Given the description of an element on the screen output the (x, y) to click on. 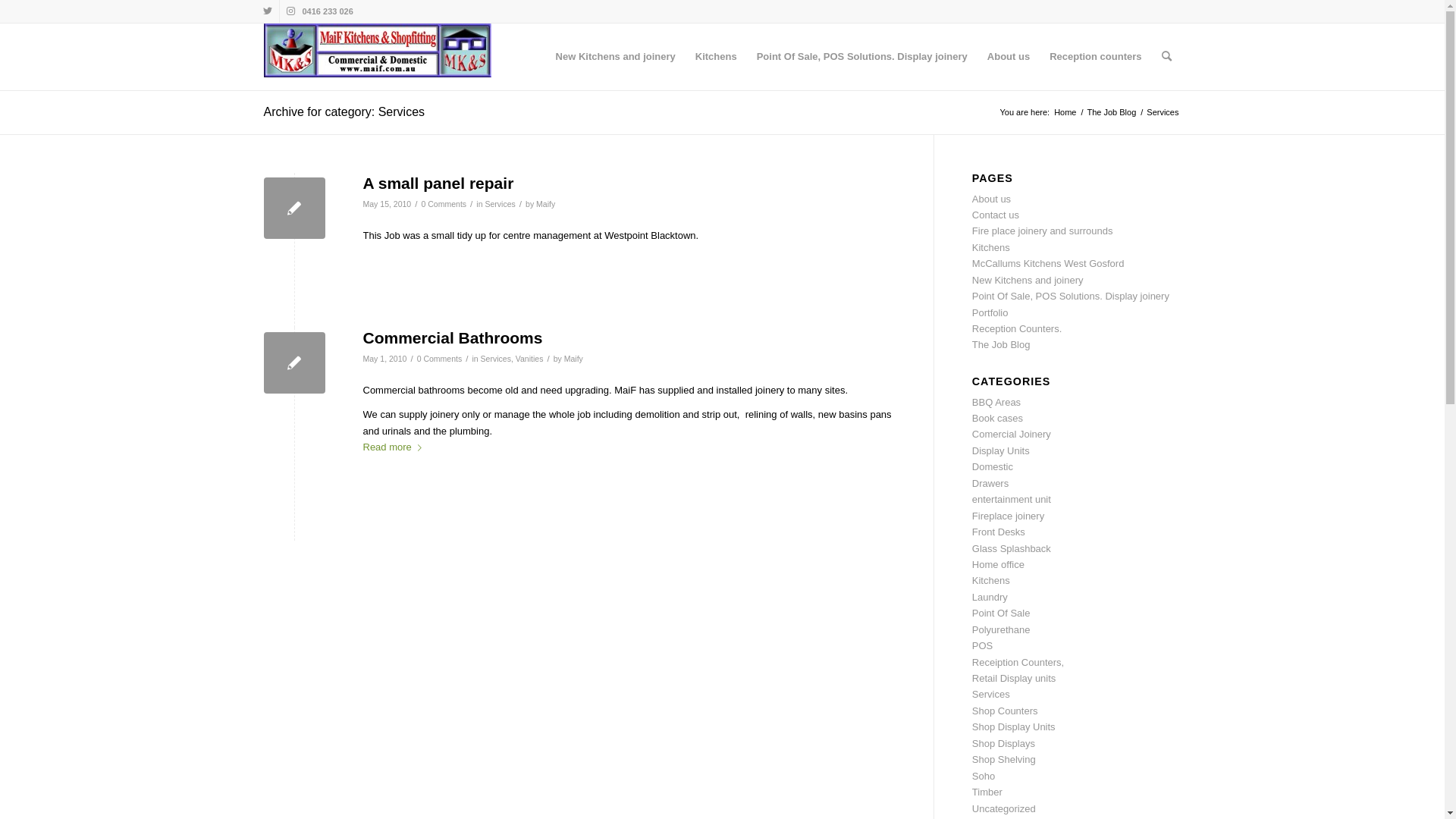
Maify Element type: text (573, 358)
Timber Element type: text (987, 791)
Vanities Element type: text (529, 358)
Glass Splashback Element type: text (1011, 548)
Contact us Element type: text (995, 214)
The Job Blog Element type: text (1001, 344)
About us Element type: text (1008, 56)
Services Element type: text (495, 358)
Home office Element type: text (998, 564)
Reception Counters. Element type: text (1017, 328)
0 Comments Element type: text (439, 358)
Laundry Element type: text (989, 596)
Shop Counters Element type: text (1005, 710)
BBQ Areas Element type: text (996, 401)
Front Desks Element type: text (998, 531)
Point Of Sale, POS Solutions. Display joinery Element type: text (861, 56)
Kitchens Element type: text (715, 56)
The Job Blog Element type: text (1111, 112)
Shop Shelving Element type: text (1003, 759)
Kitchens Element type: text (991, 580)
Display Units Element type: text (1000, 450)
Polyurethane Element type: text (1001, 629)
Point Of Sale, POS Solutions. Display joinery Element type: text (1070, 295)
Services Element type: text (499, 203)
Services Element type: text (991, 693)
Portfolio Element type: text (990, 312)
A small panel repair Element type: text (437, 182)
0 Comments Element type: text (443, 203)
Book cases Element type: text (997, 417)
Domestic Element type: text (992, 466)
Reception counters Element type: text (1095, 56)
Twitter Element type: hover (267, 11)
Maify Element type: text (545, 203)
A small panel repair Element type: hover (294, 207)
Point Of Sale Element type: text (1001, 612)
Commercial Bathrooms Element type: hover (294, 362)
Commercial Bathrooms Element type: text (452, 337)
Soho Element type: text (983, 775)
Read more Element type: text (394, 447)
Shop Display Units Element type: text (1013, 726)
Drawers Element type: text (990, 483)
About us Element type: text (991, 198)
Uncategorized Element type: text (1003, 808)
New Kitchens and joinery Element type: text (1027, 279)
Archive for category: Services Element type: text (344, 111)
Retail Display units Element type: text (1014, 678)
McCallums Kitchens West Gosford Element type: text (1048, 263)
Fire place joinery and surrounds Element type: text (1042, 230)
Fireplace joinery Element type: text (1008, 515)
Comercial Joinery Element type: text (1011, 433)
Receiption Counters, Element type: text (1017, 662)
Instagram Element type: hover (290, 11)
New Kitchens and joinery Element type: text (615, 56)
Shop Displays Element type: text (1003, 743)
Kitchens Element type: text (991, 247)
Home Element type: text (1064, 112)
entertainment unit Element type: text (1011, 499)
POS Element type: text (982, 645)
